Given the description of an element on the screen output the (x, y) to click on. 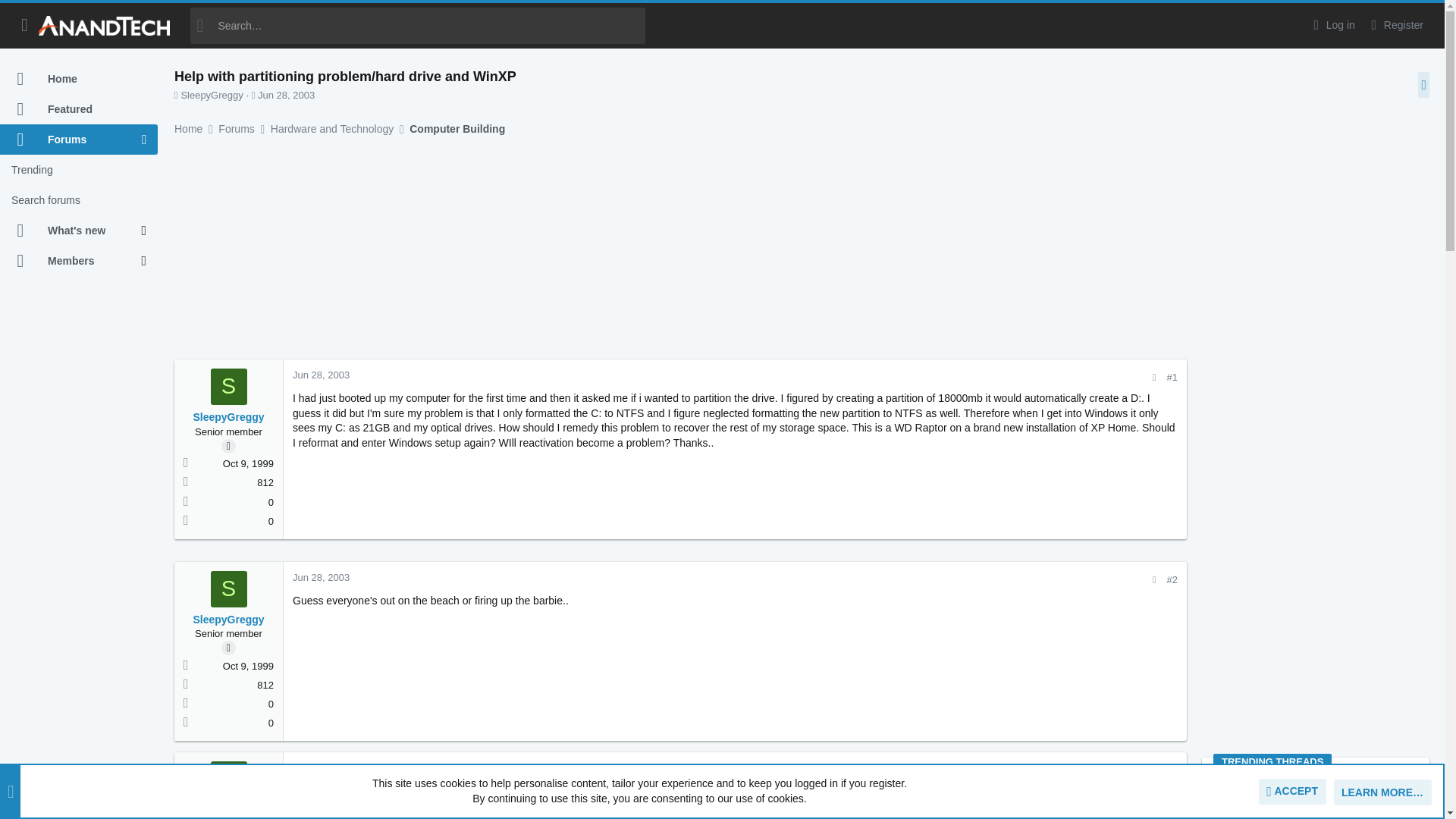
Featured (78, 109)
Forums (70, 139)
Register (1395, 24)
What's new (70, 230)
Search forums (78, 200)
Log in (1332, 24)
Trending (78, 169)
Jun 28, 2003 at 1:38 PM (285, 94)
Original poster (228, 445)
Home (78, 78)
